Given the description of an element on the screen output the (x, y) to click on. 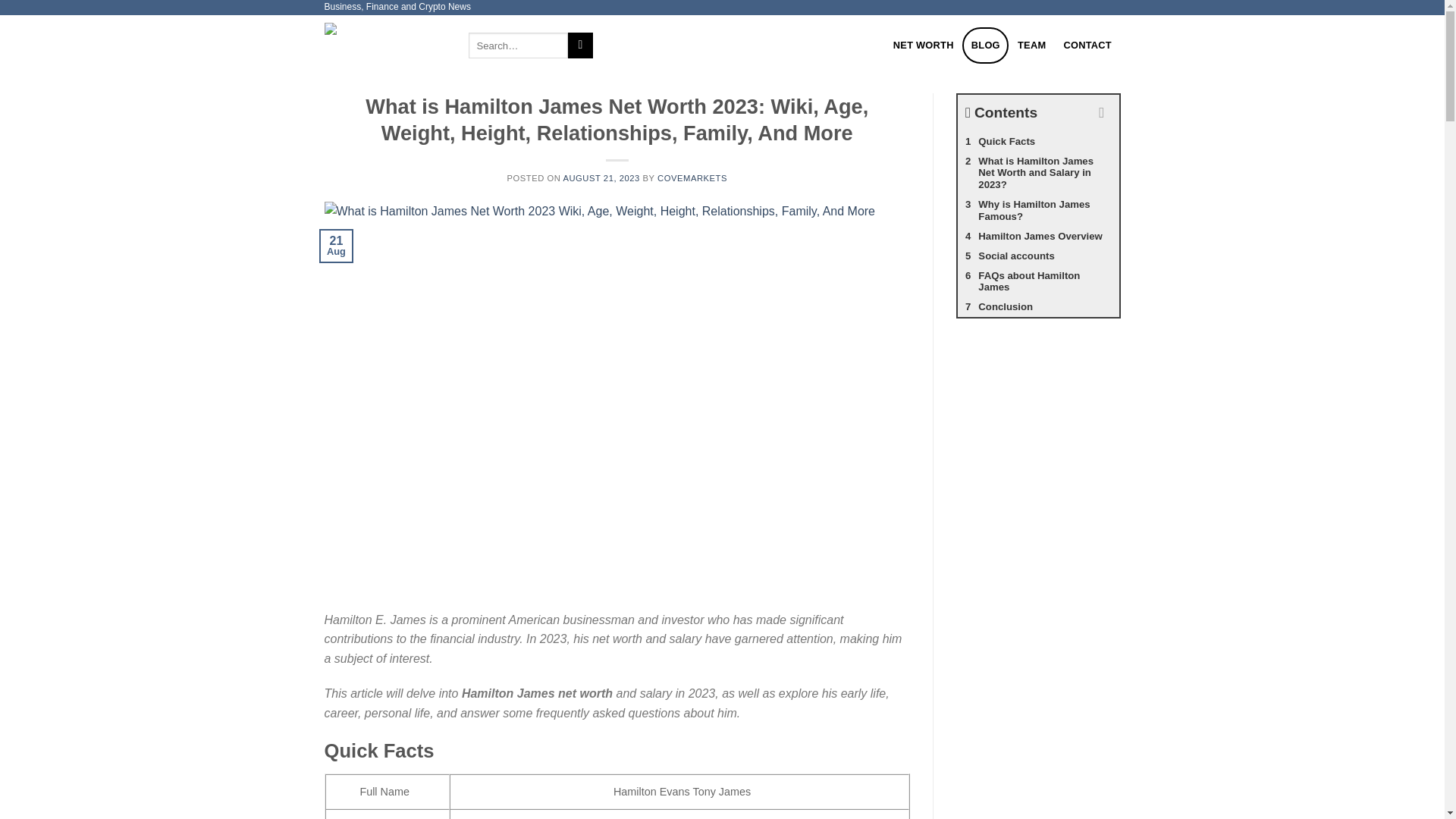
COVEMARKETS (692, 177)
NET WORTH (922, 45)
FAQs about Hamilton James (1038, 282)
CONTACT (1087, 45)
Why is Hamilton James Famous? (1038, 210)
Quick Facts (1038, 141)
BLOG (985, 45)
Hamilton James Overview (1038, 236)
What is Hamilton James Net Worth and Salary in 2023? (1038, 173)
TEAM (1031, 45)
Social accounts (1038, 256)
AUGUST 21, 2023 (600, 177)
